Given the description of an element on the screen output the (x, y) to click on. 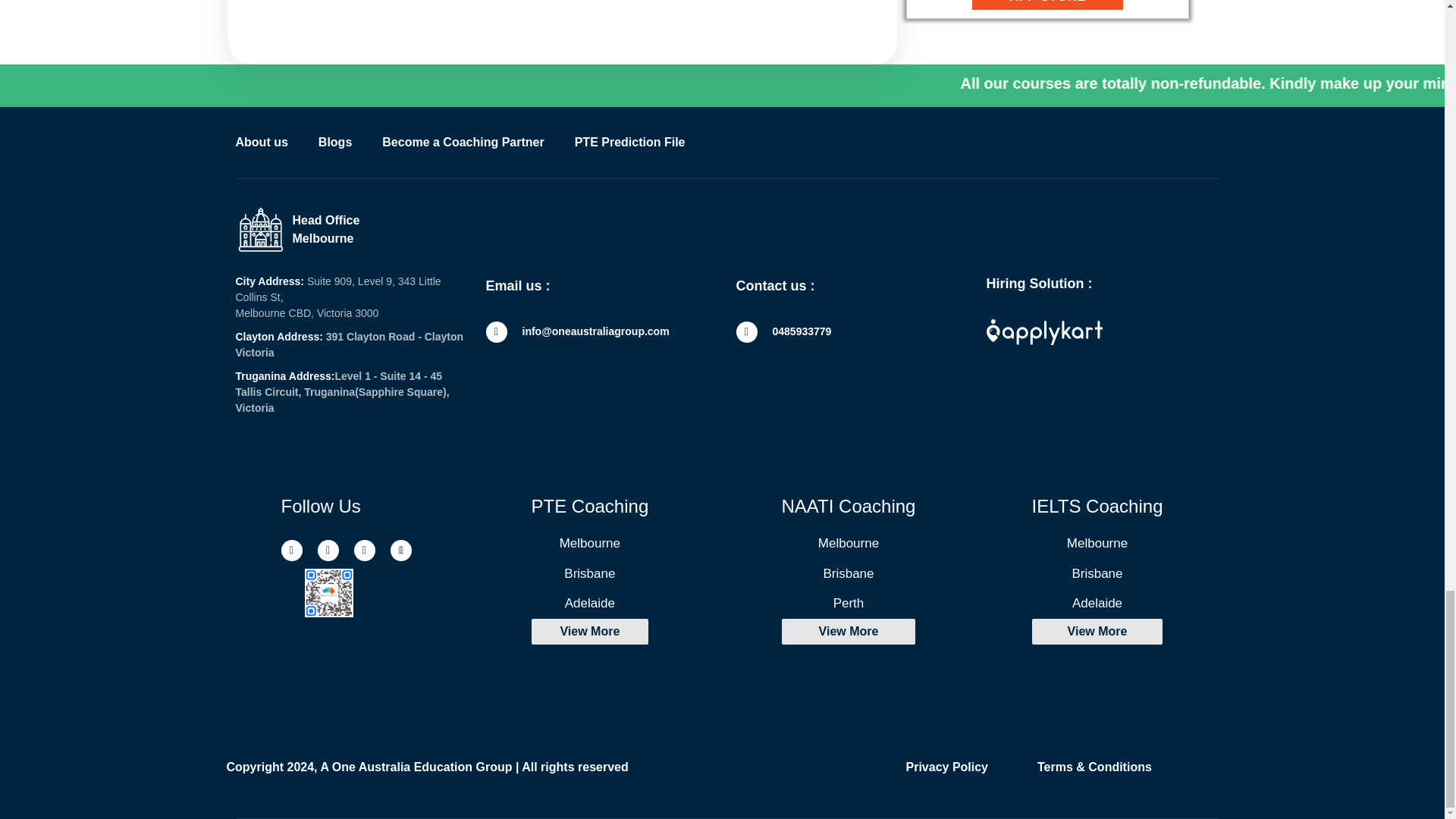
PTE Adelaide (589, 603)
PTE Melbourne (589, 543)
PTE Brisbane (589, 573)
